Given the description of an element on the screen output the (x, y) to click on. 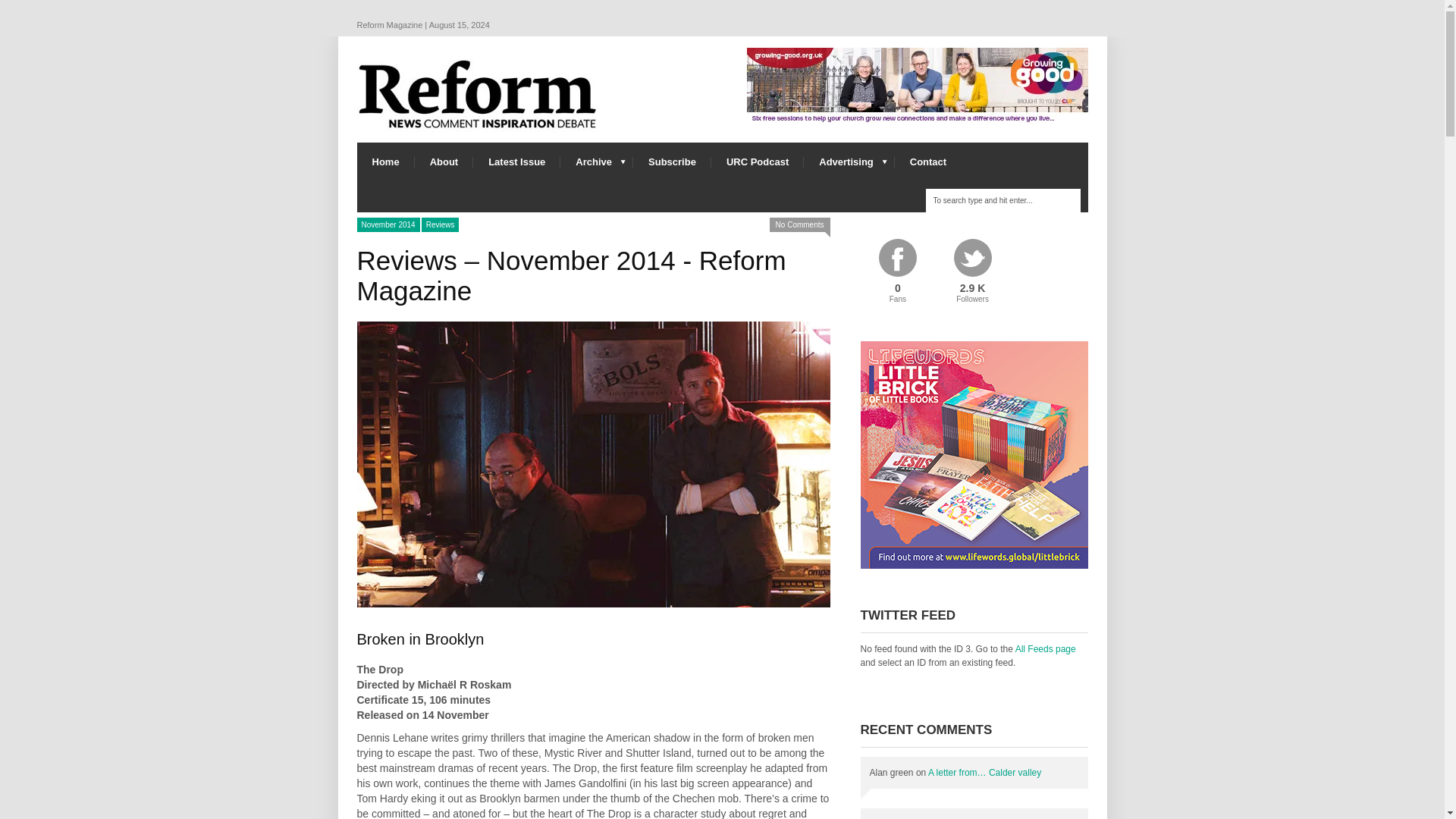
To search type and hit enter... (1002, 200)
About (444, 161)
Latest Issue (516, 161)
Home (384, 161)
